Given the description of an element on the screen output the (x, y) to click on. 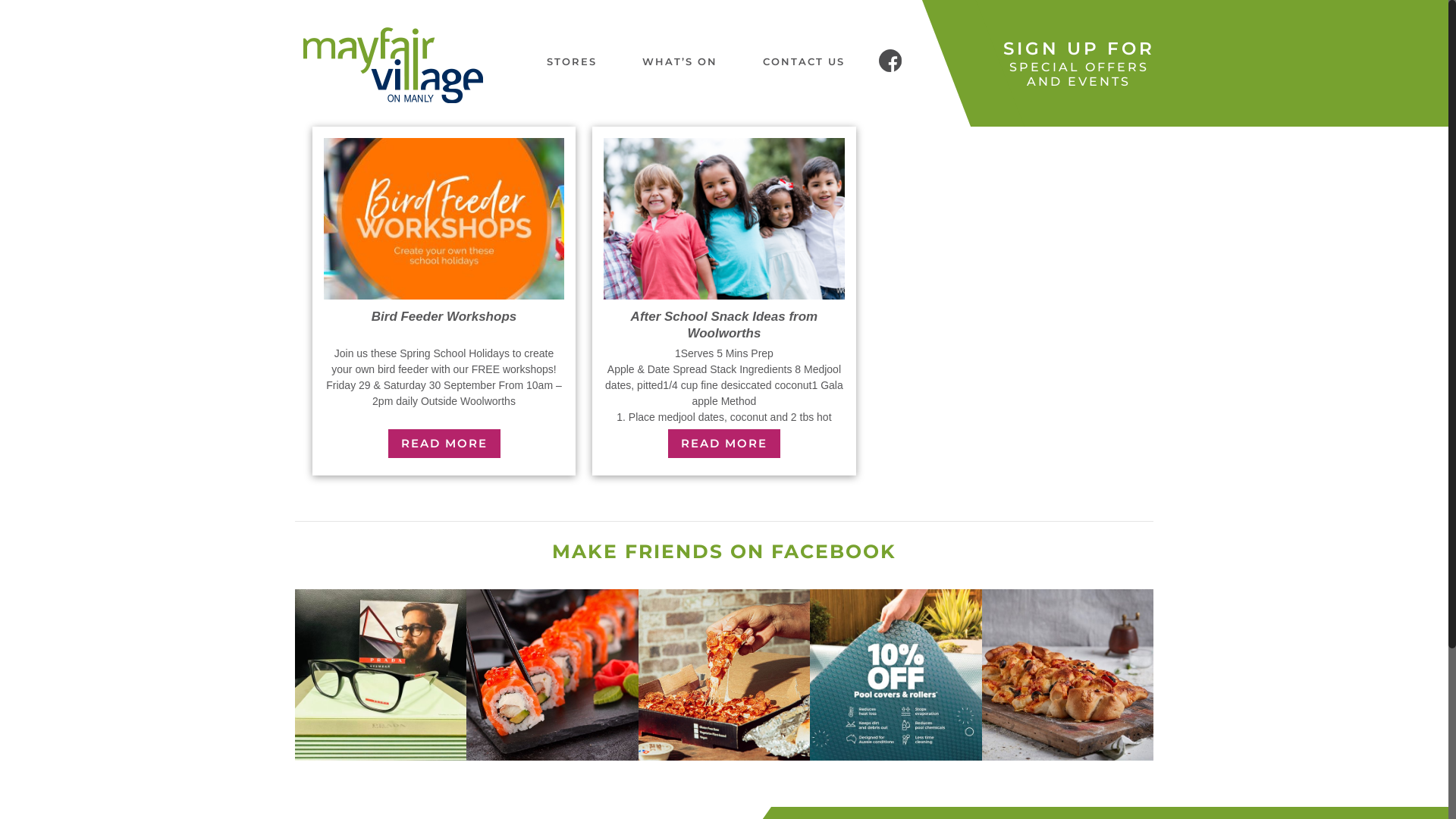
READ MORE Element type: text (724, 443)
Bird Feeder Workshops Element type: text (443, 316)
READ MORE Element type: text (444, 443)
Mayfair Village on Manly Element type: hover (413, 64)
STORES Element type: text (571, 60)
After School Snack Ideas from Woolworths Element type: text (724, 324)
CONTACT US Element type: text (803, 60)
